Given the description of an element on the screen output the (x, y) to click on. 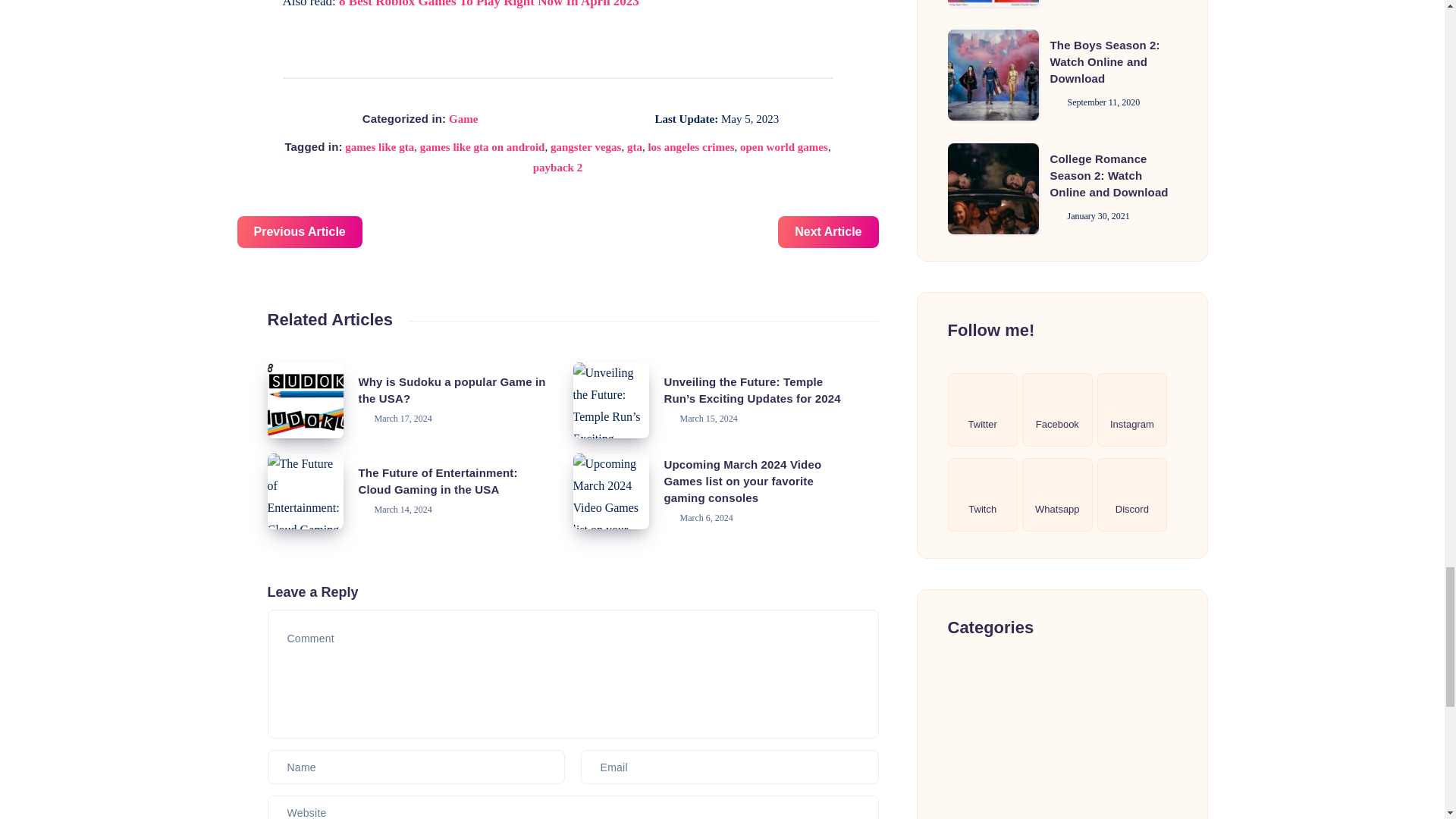
8 Best Roblox Games To Play Right Now In April 2023 (489, 4)
